Given the description of an element on the screen output the (x, y) to click on. 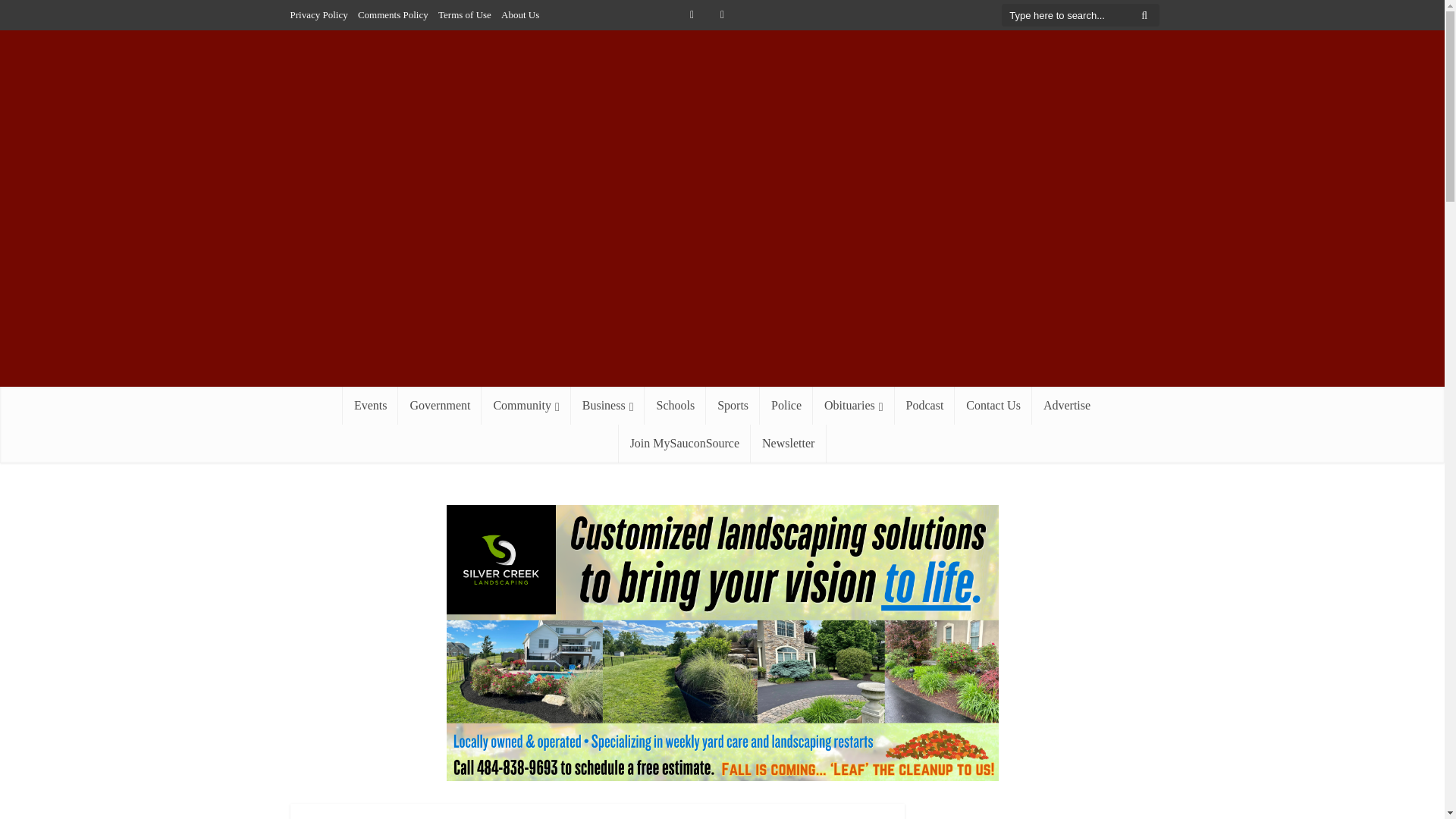
Privacy Policy (318, 14)
Advertise (1067, 405)
Government (439, 405)
Terms of Use (465, 14)
Obituaries (853, 405)
Sports (733, 405)
Business (607, 405)
Type here to search... (1079, 15)
Newsletter (788, 443)
Join MySauconSource (684, 443)
